Given the description of an element on the screen output the (x, y) to click on. 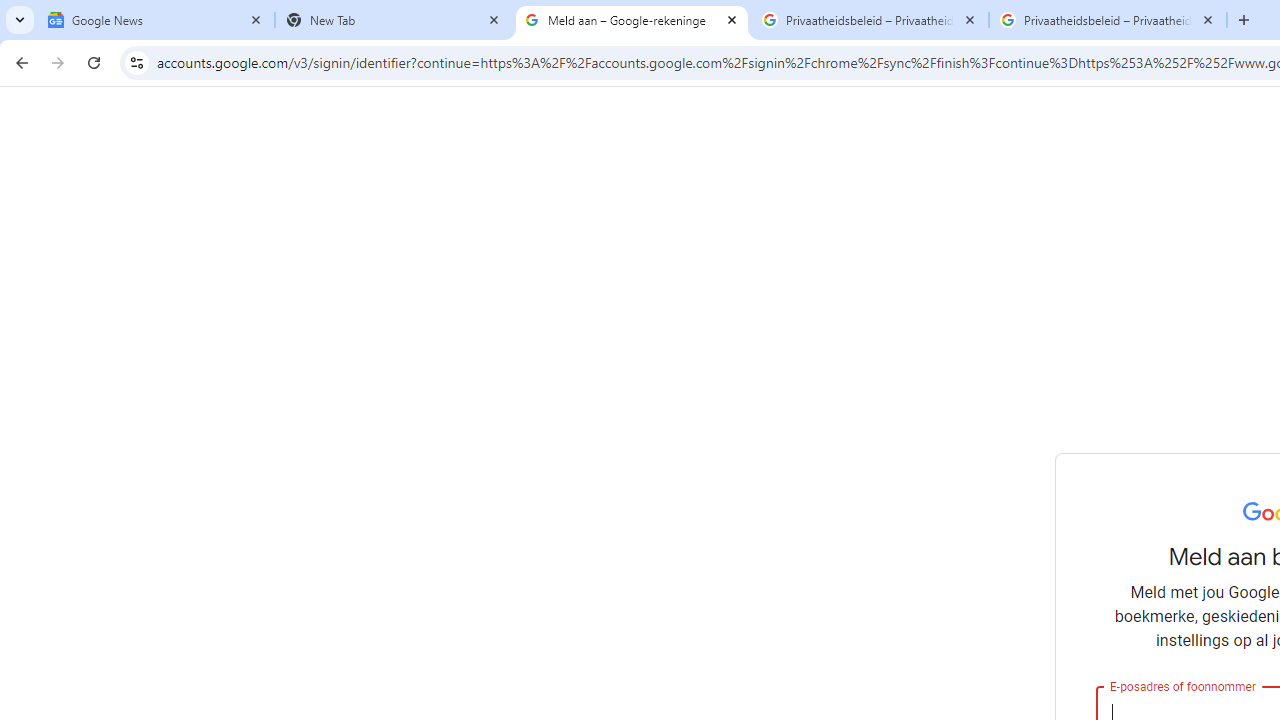
New Tab (394, 20)
Google News (156, 20)
